Given the description of an element on the screen output the (x, y) to click on. 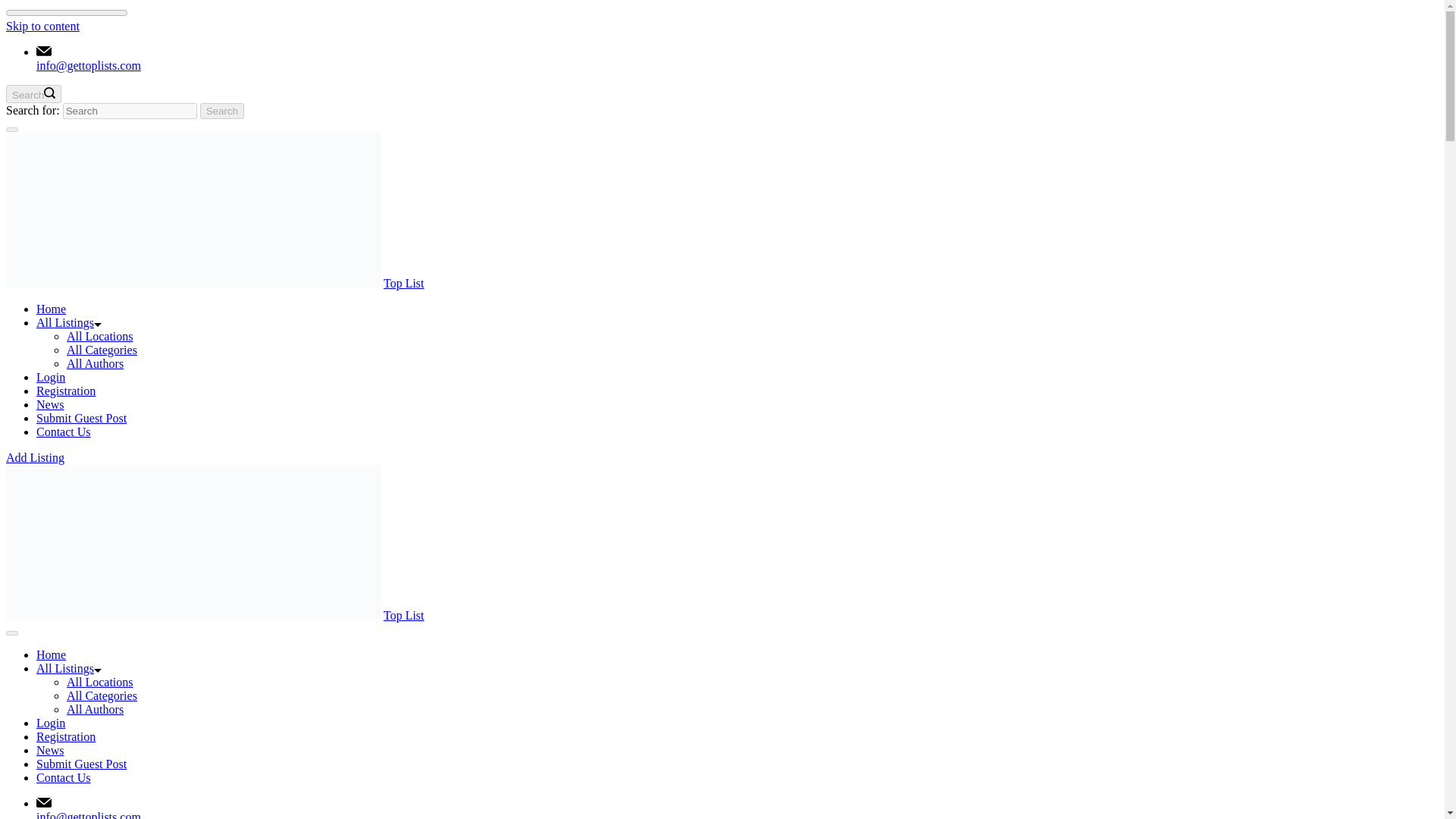
Top List (404, 282)
Login (50, 377)
Top List (404, 615)
All Authors (94, 363)
Add Listing (34, 457)
Submit Guest Post (81, 763)
Search Input (129, 110)
Registration (66, 736)
All Categories (101, 349)
All Locations (99, 681)
Search (33, 94)
Home (50, 654)
Search (222, 110)
All Categories (101, 695)
Search (222, 110)
